Given the description of an element on the screen output the (x, y) to click on. 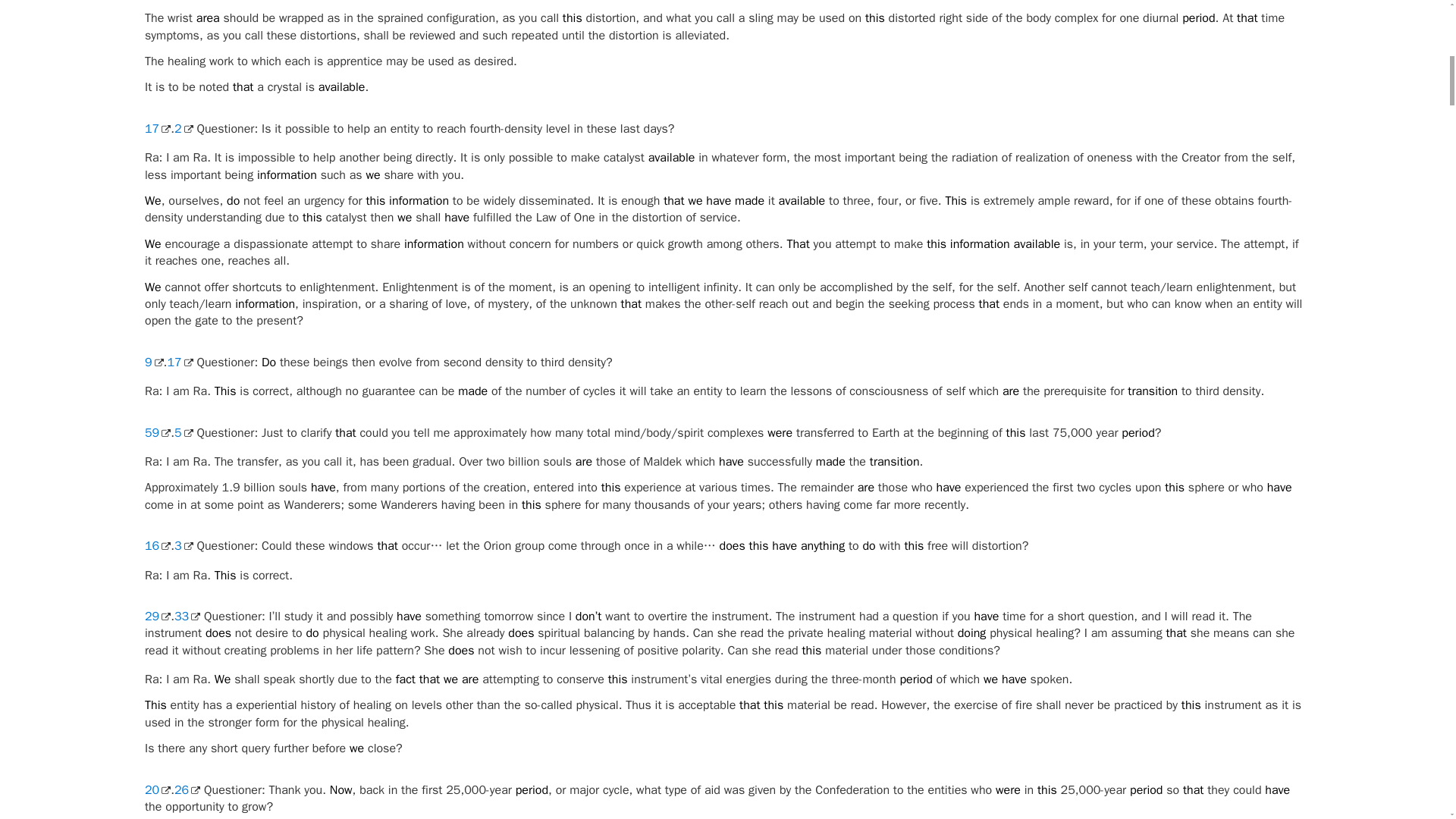
5 (183, 432)
17 (179, 362)
16 (157, 545)
2 (183, 128)
59 (157, 432)
17 (157, 128)
9 (153, 362)
